Given the description of an element on the screen output the (x, y) to click on. 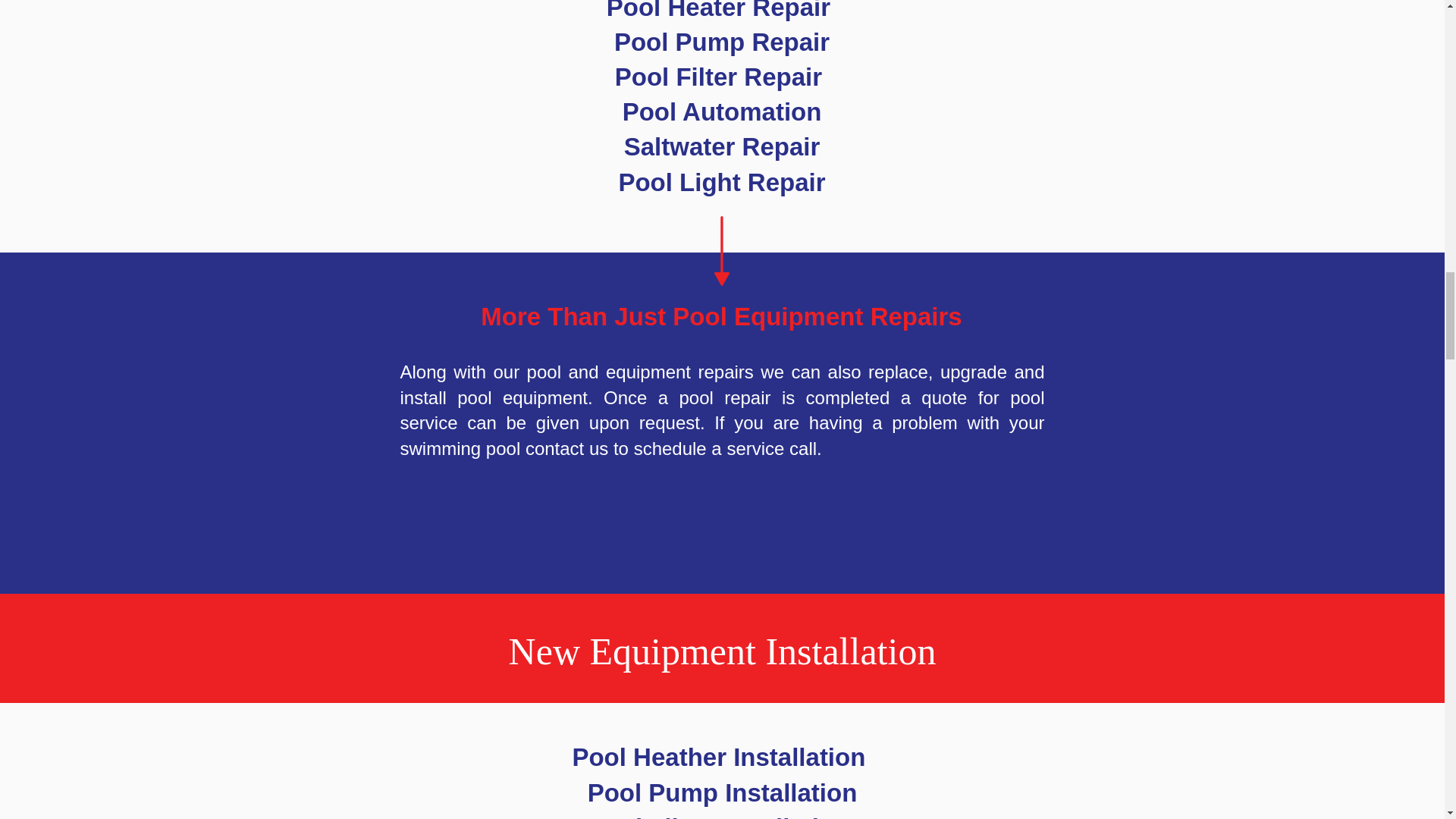
Pool Filter Installation (719, 816)
Pool Filter Repair  (721, 76)
pool service (722, 410)
Pool Heater Repair  (722, 10)
Pool Heather Installation  (722, 756)
More Than Just Pool Equipment Repairs (720, 316)
